Given the description of an element on the screen output the (x, y) to click on. 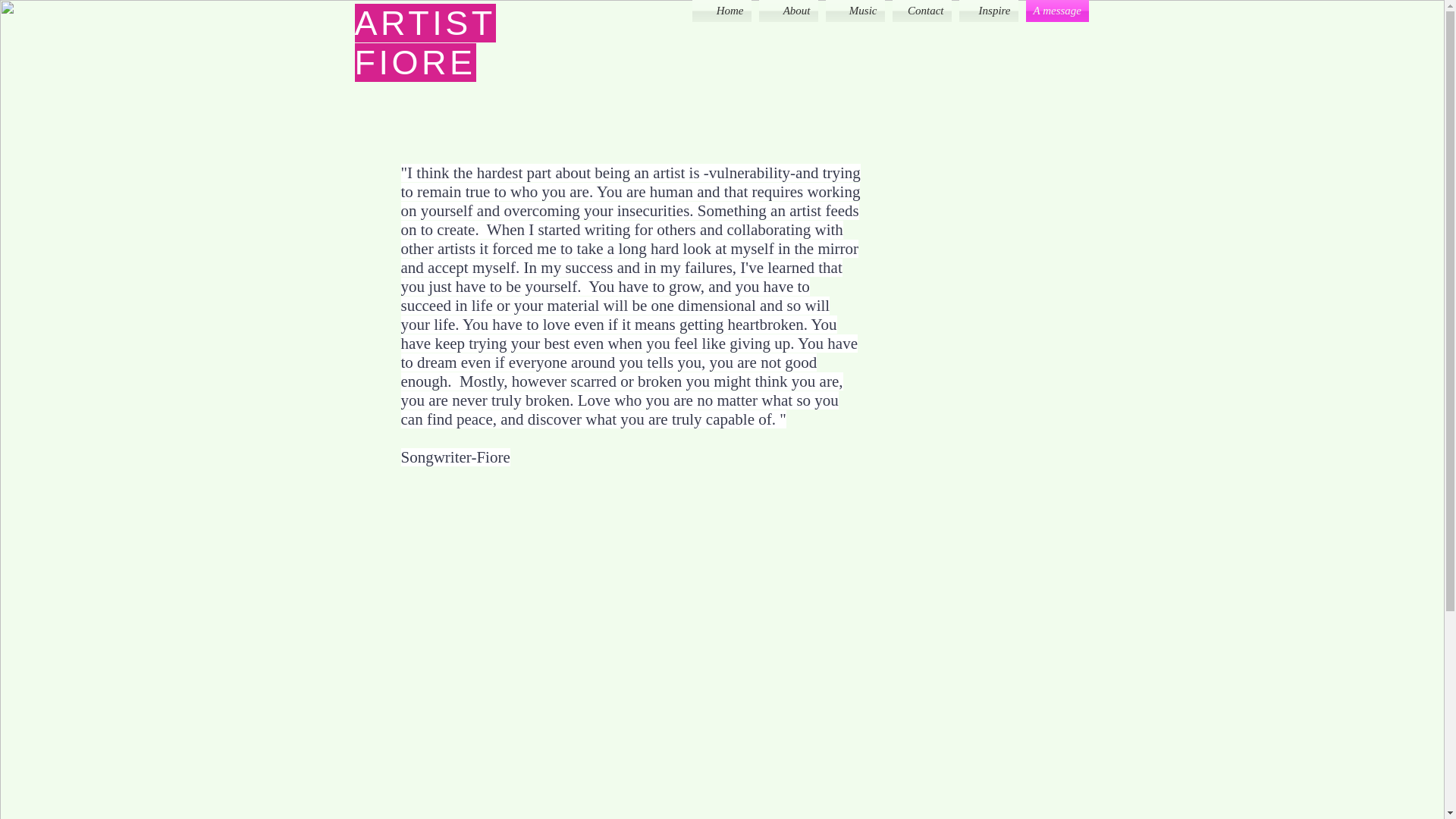
Inspire (988, 11)
ARTIST FIORE (425, 42)
A message (1055, 11)
Home (721, 11)
Contact (921, 11)
Music (855, 11)
About (788, 11)
